Given the description of an element on the screen output the (x, y) to click on. 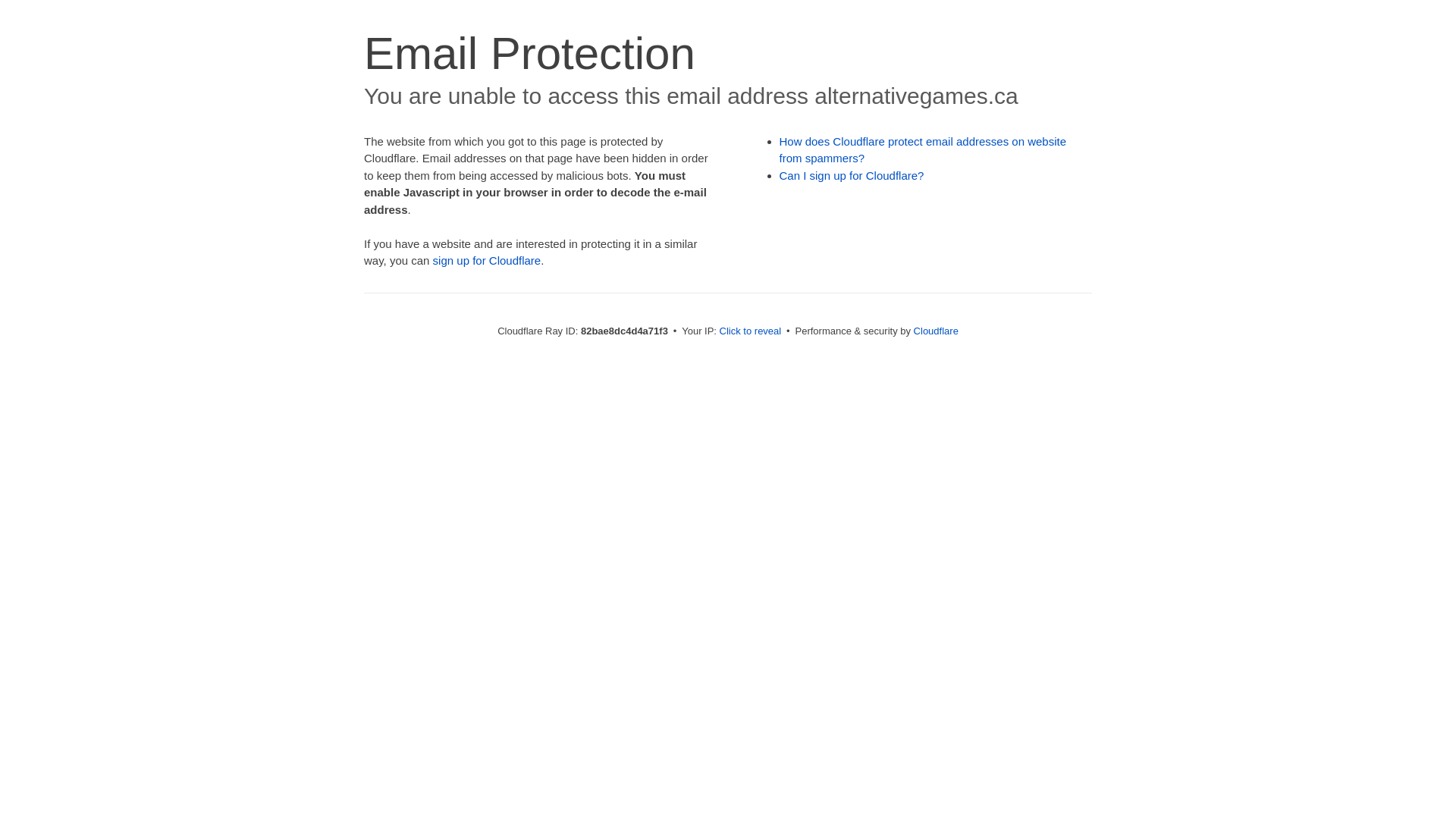
sign up for Cloudflare Element type: text (487, 260)
Click to reveal Element type: text (750, 330)
Can I sign up for Cloudflare? Element type: text (851, 175)
Cloudflare Element type: text (935, 330)
